Given the description of an element on the screen output the (x, y) to click on. 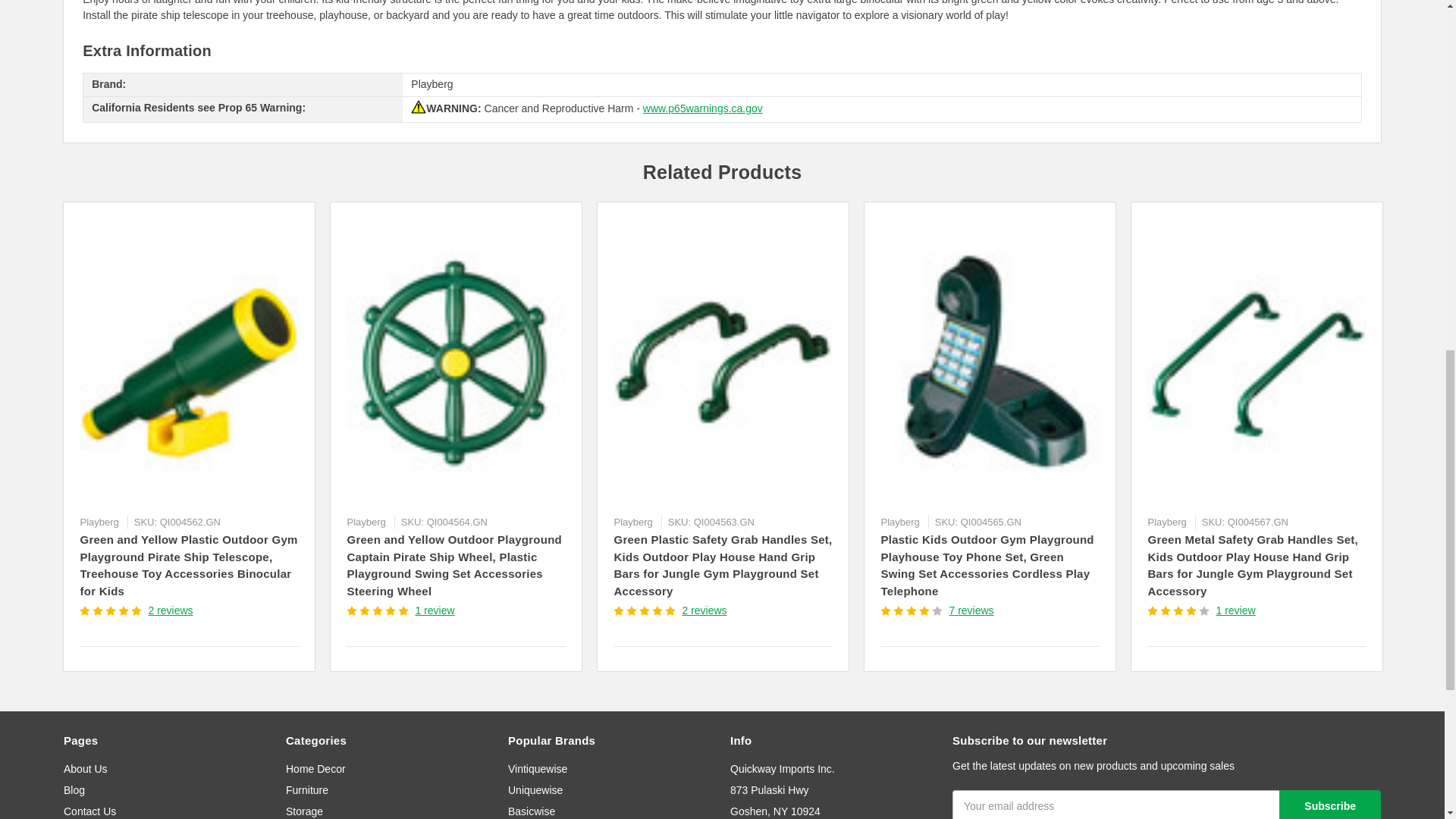
Subscribe (1329, 804)
